Given the description of an element on the screen output the (x, y) to click on. 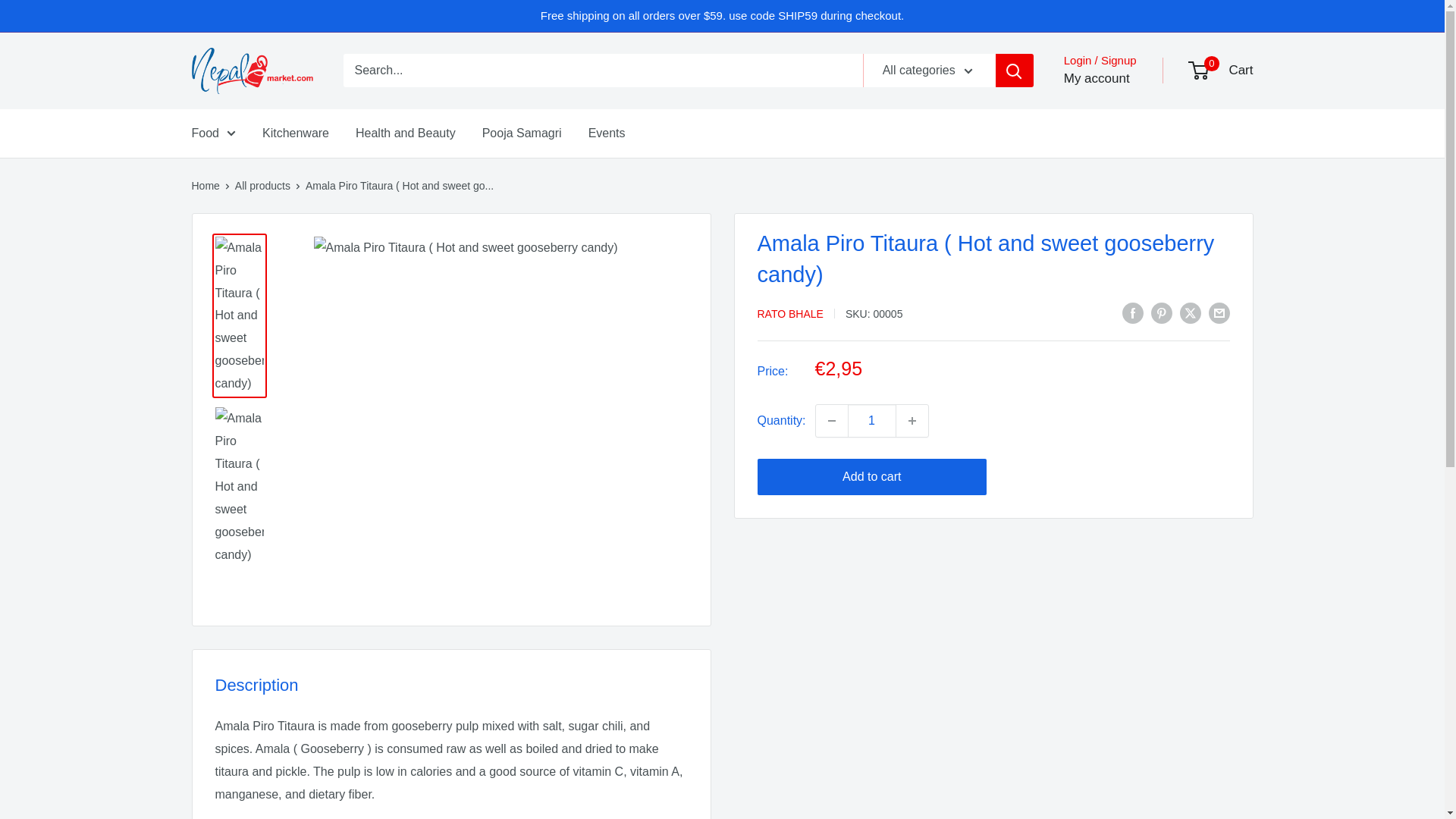
Increase quantity by 1 (912, 420)
Food (212, 133)
Decrease quantity by 1 (831, 420)
My account (1096, 78)
Nepal eMarket (251, 70)
1 (871, 420)
